Given the description of an element on the screen output the (x, y) to click on. 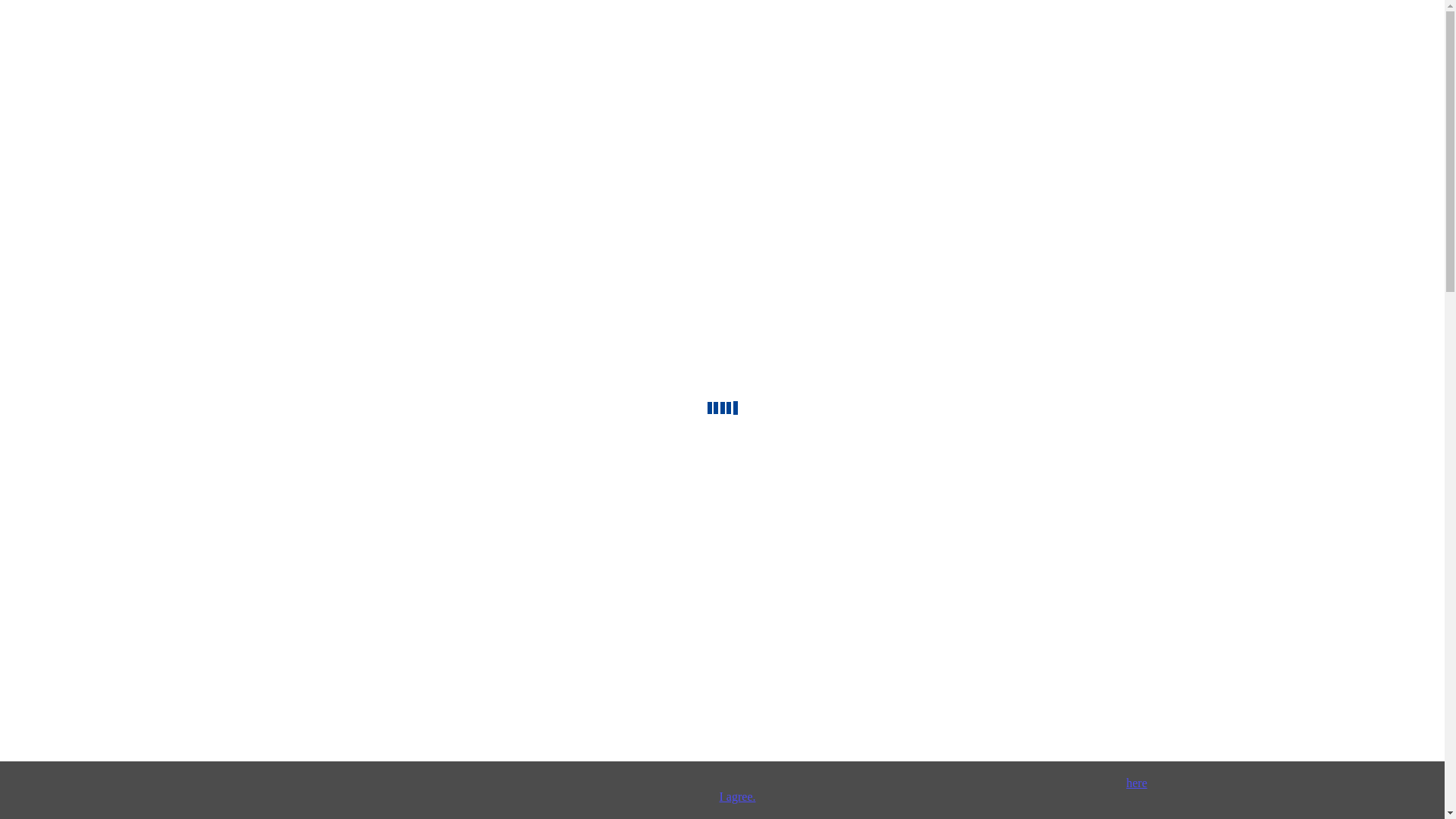
English (84, 784)
Hrvatski (86, 811)
Deutsch (86, 797)
Hrvatski (86, 811)
English (84, 784)
ENGLISH (61, 770)
Deutsch (86, 797)
